Given the description of an element on the screen output the (x, y) to click on. 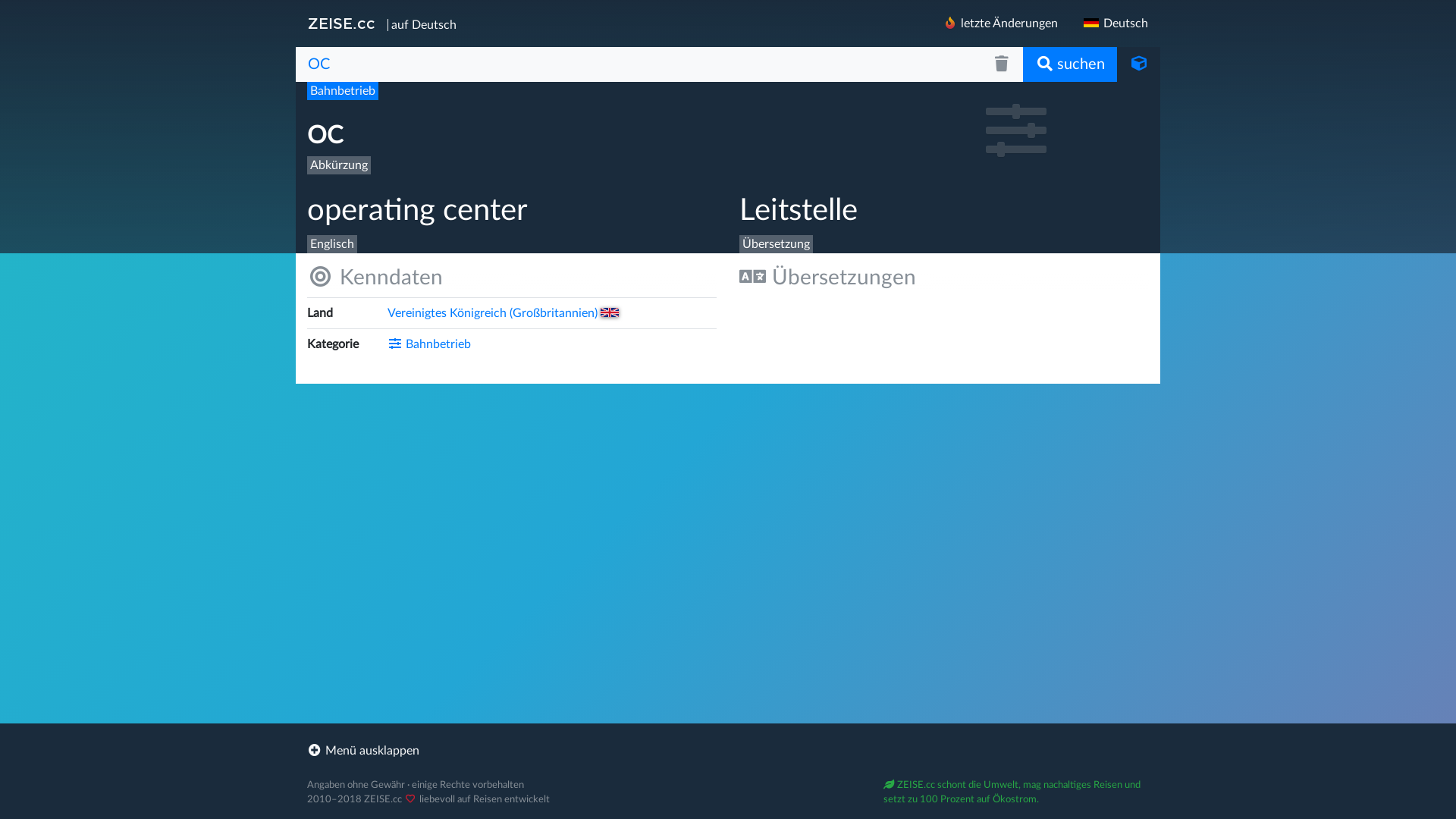
Deutsch Element type: text (1115, 23)
Kenndaten Element type: text (511, 278)
ZEISE.cc Element type: text (341, 23)
suchen Element type: text (1069, 64)
